Given the description of an element on the screen output the (x, y) to click on. 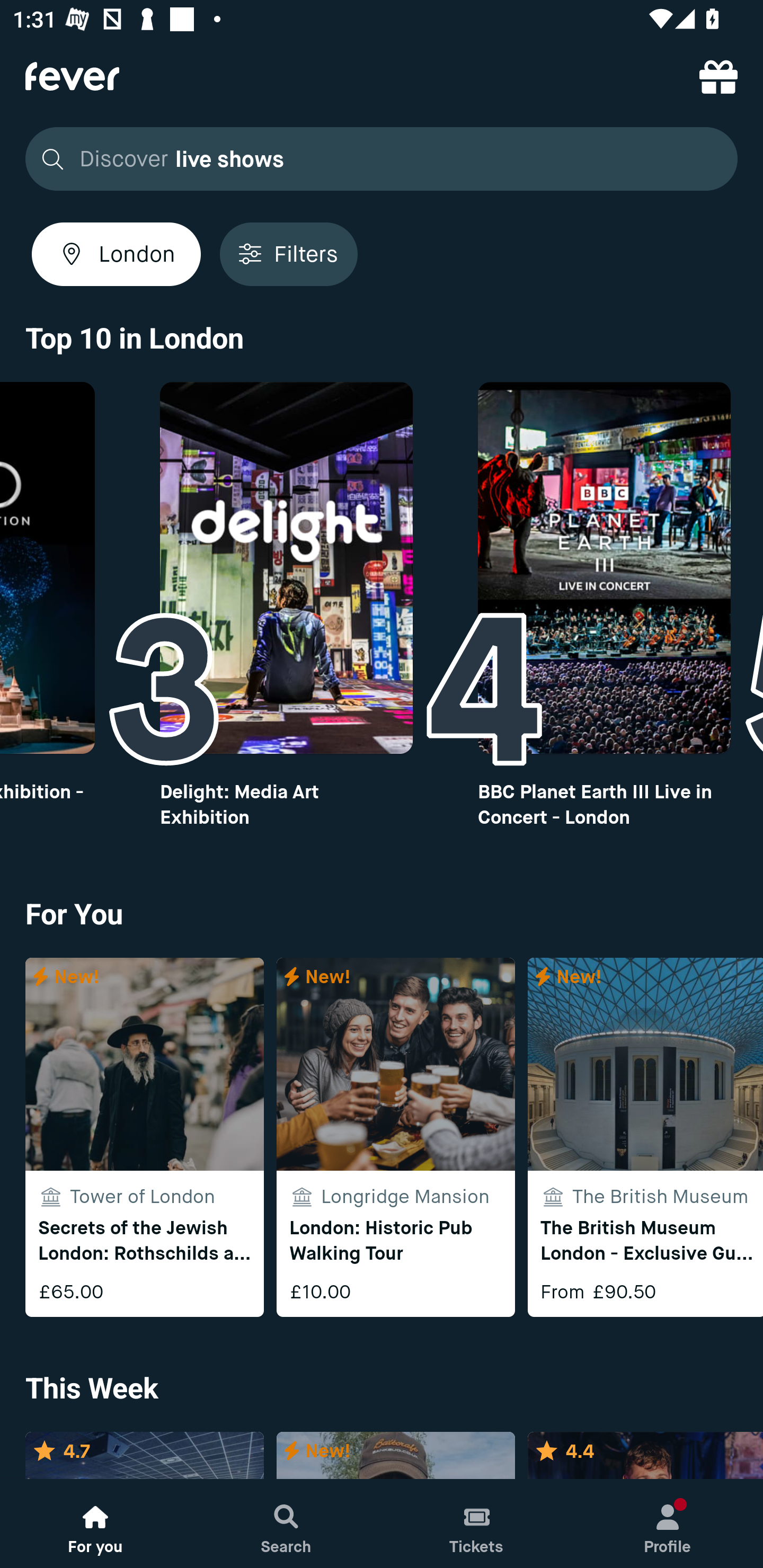
referral (718, 75)
Discover live shows (381, 158)
Discover live shows (376, 158)
London (116, 253)
Filters (288, 253)
Top10 image (286, 568)
Top10 image (603, 568)
Search (285, 1523)
Tickets (476, 1523)
Profile, New notification Profile (667, 1523)
